Given the description of an element on the screen output the (x, y) to click on. 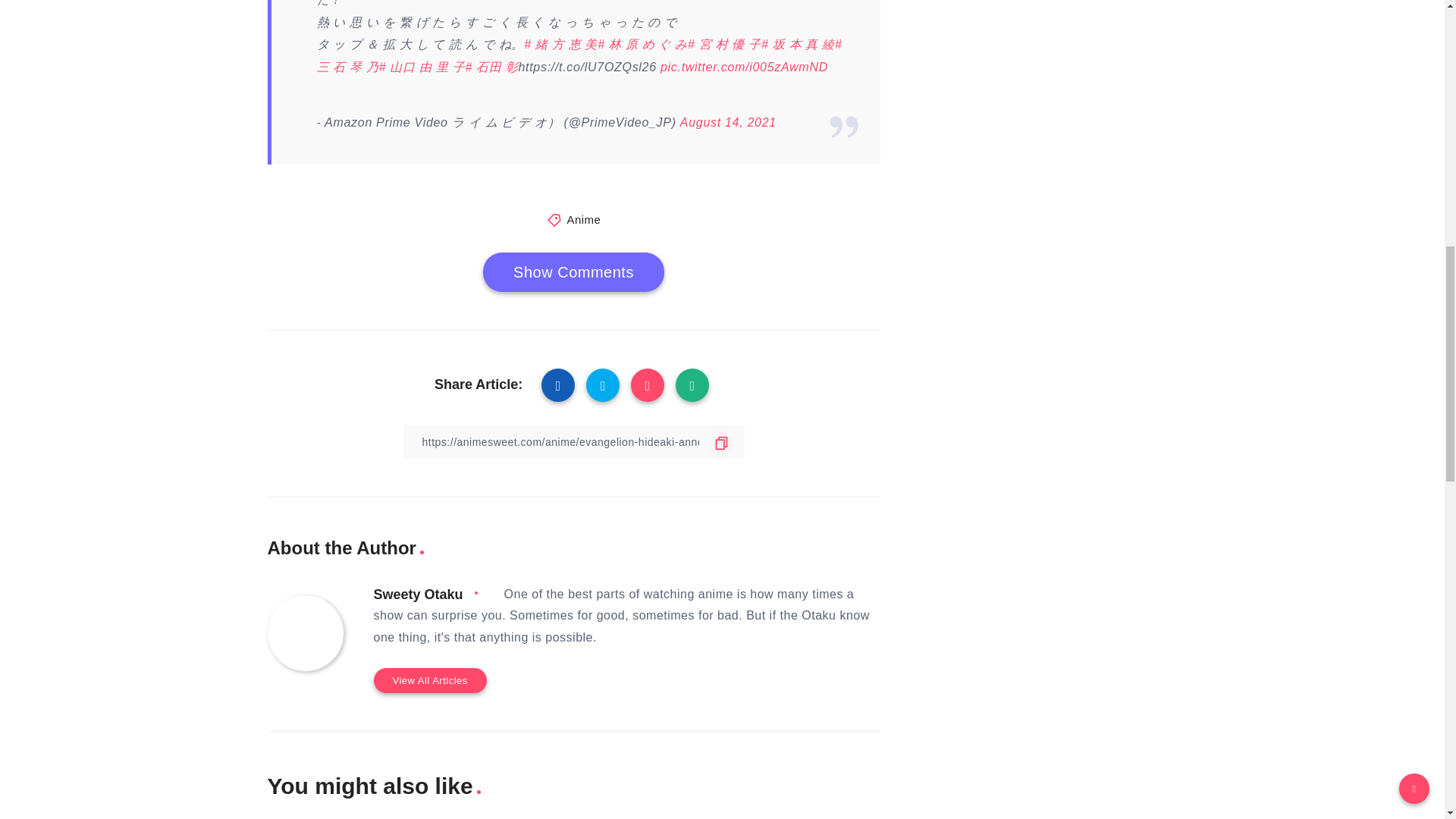
View All Articles (429, 680)
Anime (582, 219)
Sweety Otaku (417, 594)
Show Comments (573, 271)
August 14, 2021 (727, 122)
